Given the description of an element on the screen output the (x, y) to click on. 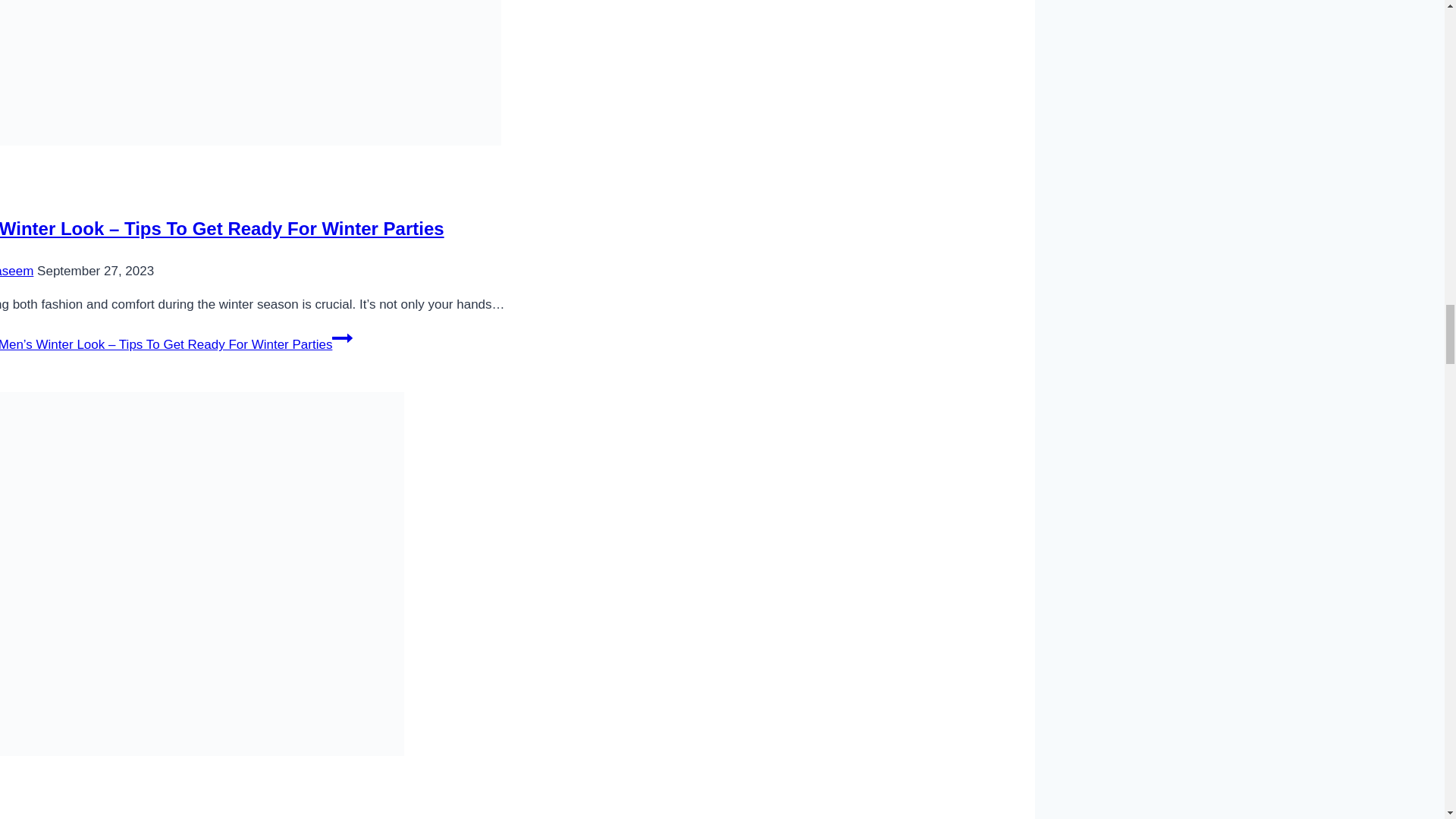
Continue (341, 337)
